Given the description of an element on the screen output the (x, y) to click on. 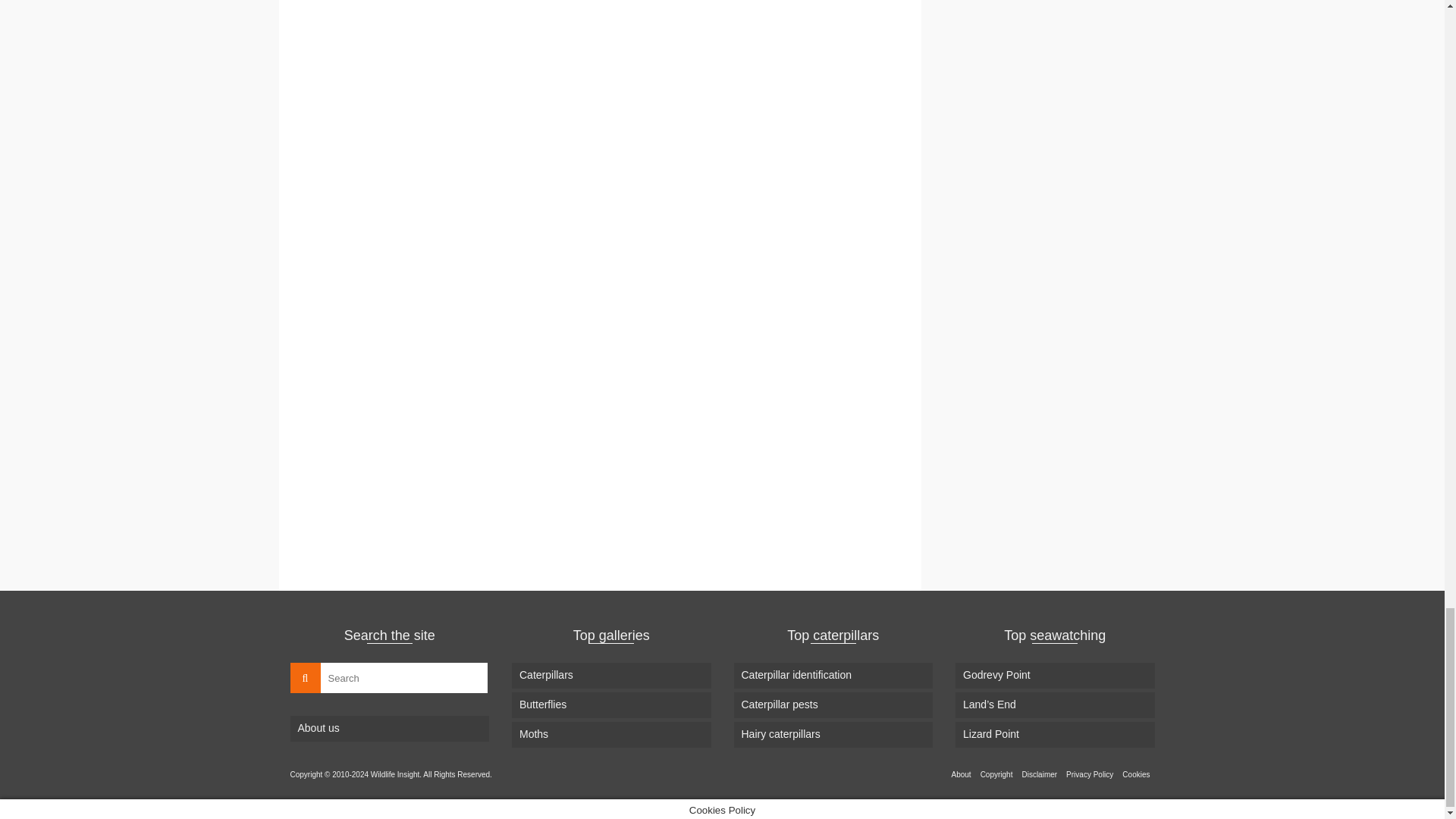
Advertisement (599, 101)
